Given the description of an element on the screen output the (x, y) to click on. 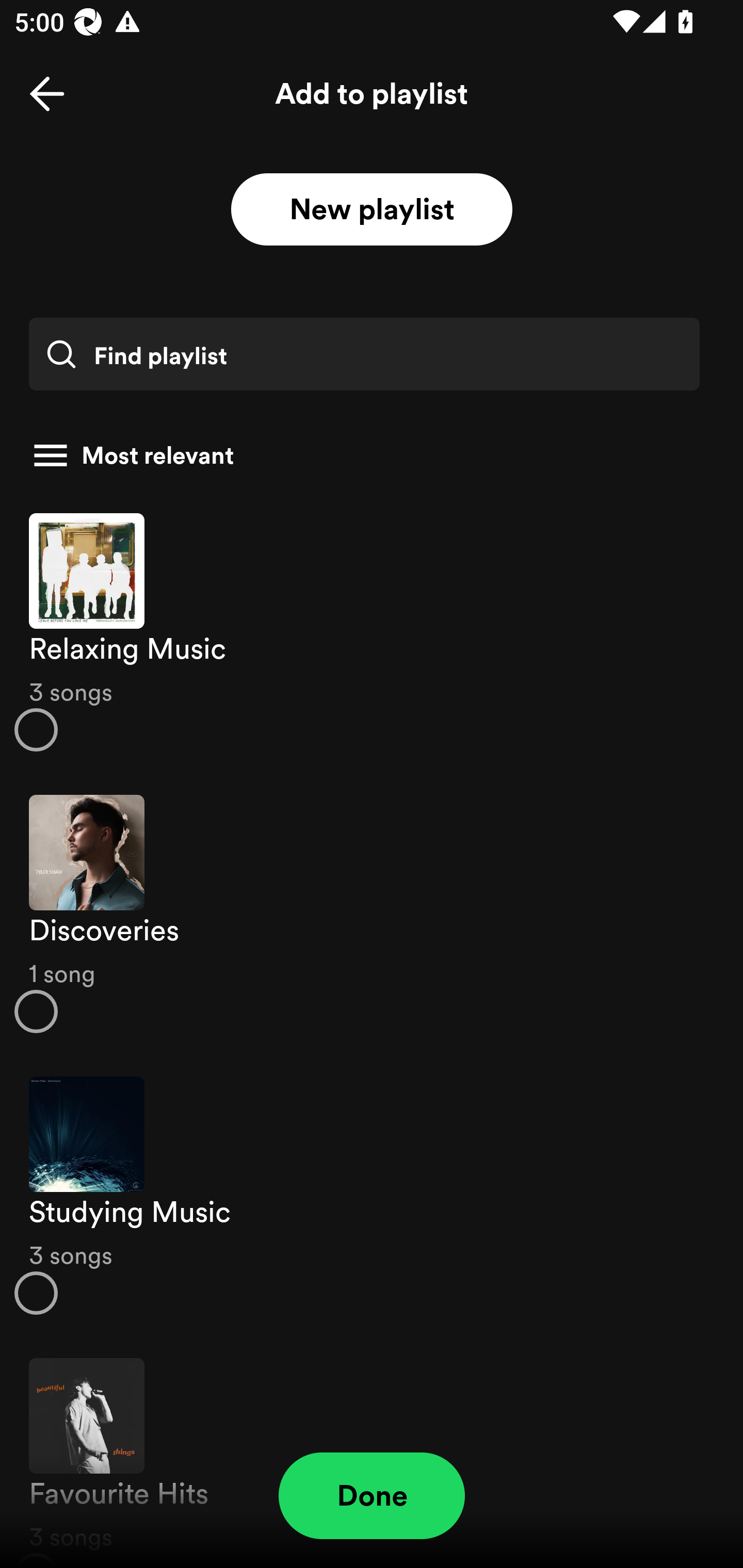
Back (46, 93)
New playlist (371, 210)
Find playlist (363, 354)
Most relevant (363, 455)
Relaxing Music 3 songs (371, 631)
Discoveries 1 song (371, 914)
Studying Music 3 songs (371, 1195)
Favourite Hits 3 songs (371, 1451)
Done (371, 1495)
